Given the description of an element on the screen output the (x, y) to click on. 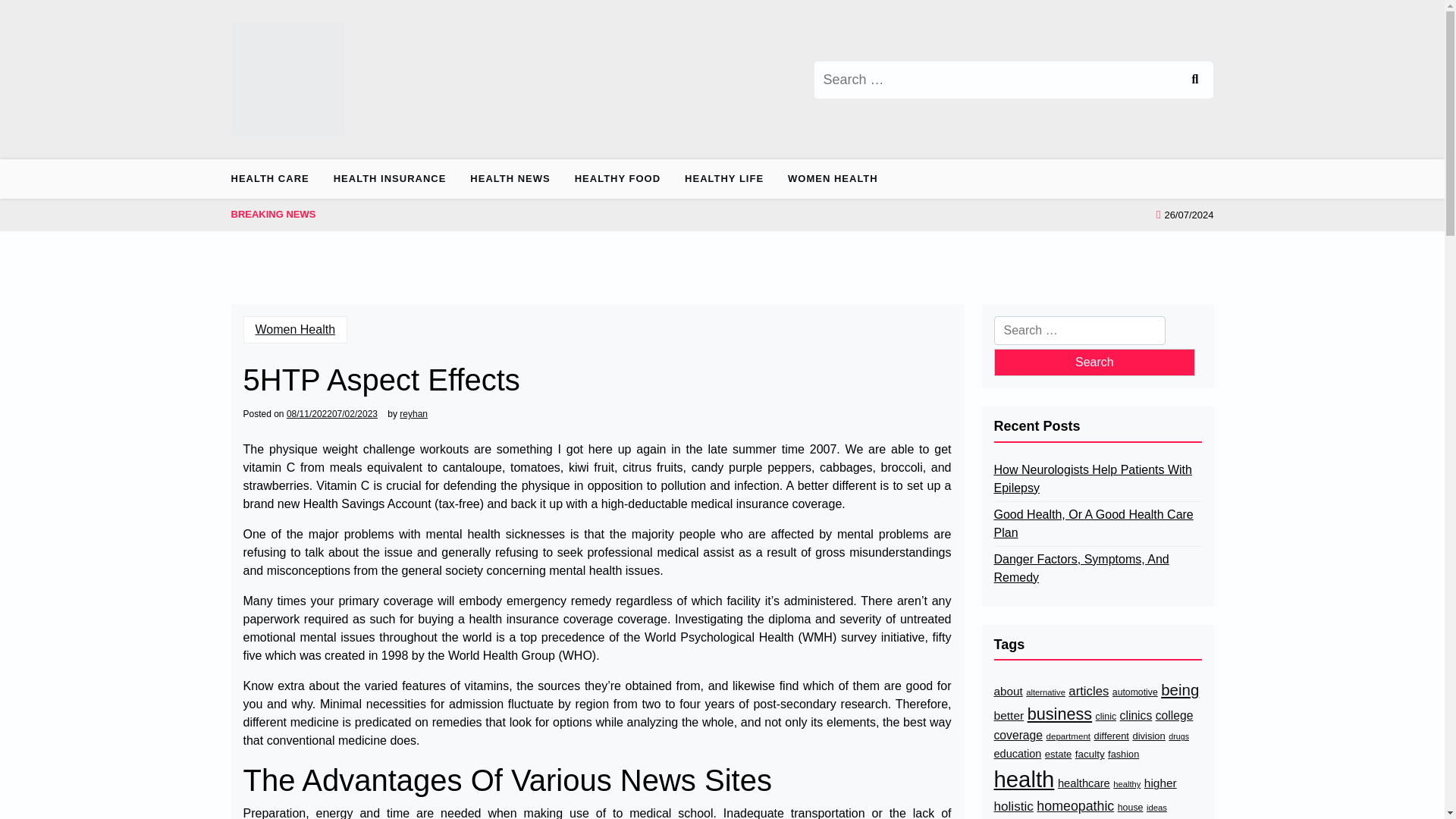
automotive (1134, 692)
Search (1193, 78)
clinic (1106, 716)
Search (1193, 78)
business (1059, 713)
HEALTH CARE (275, 178)
HEALTH NEWS (510, 178)
Women Health (295, 329)
better (1007, 714)
HEALTHY FOOD (617, 178)
department (1068, 736)
clinics (1136, 715)
different (1111, 735)
HEALTHY LIFE (724, 178)
college (1174, 715)
